Given the description of an element on the screen output the (x, y) to click on. 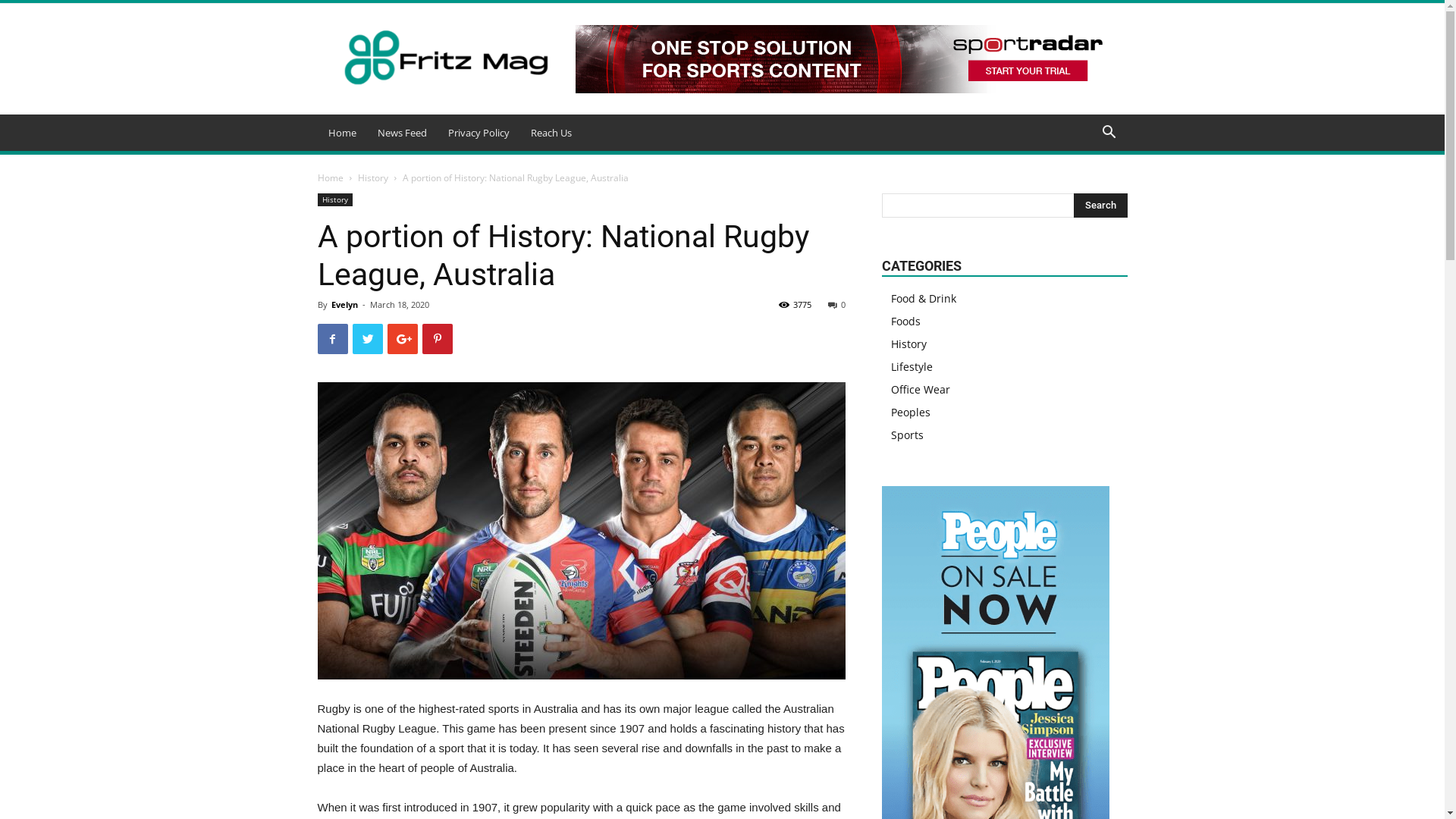
History Element type: text (907, 343)
History Element type: text (333, 199)
Foods Element type: text (904, 320)
Peoples Element type: text (909, 411)
Search Element type: text (1083, 193)
Lifestyle Element type: text (910, 366)
Food & Drink Element type: text (922, 298)
History Element type: text (372, 177)
Home Element type: text (329, 177)
Reach Us Element type: text (551, 132)
News Feed Element type: text (402, 132)
Home Element type: text (341, 132)
Privacy Policy Element type: text (477, 132)
Search Element type: text (1100, 205)
0 Element type: text (836, 304)
Sports Element type: text (906, 434)
National Rugby League Element type: hover (580, 530)
Office Wear Element type: text (919, 389)
Evelyn Element type: text (343, 304)
